Given the description of an element on the screen output the (x, y) to click on. 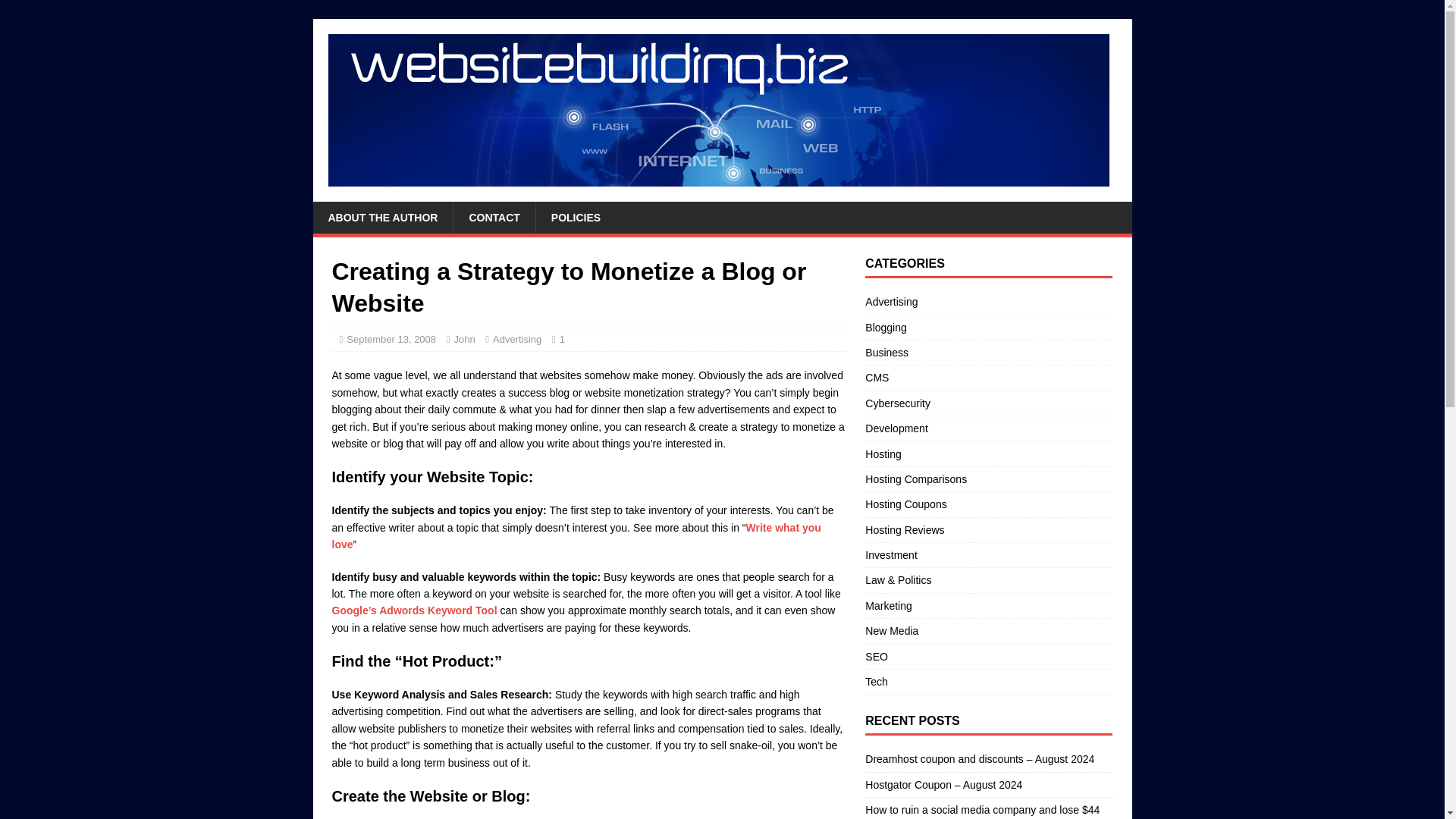
John (463, 338)
Advertising (988, 303)
Blogging (988, 327)
Hosting Reviews (988, 529)
POLICIES (575, 217)
September 13, 2008 (390, 338)
Investment (988, 554)
Advertising (517, 338)
Business (988, 352)
Hosting Comparisons (988, 478)
